Given the description of an element on the screen output the (x, y) to click on. 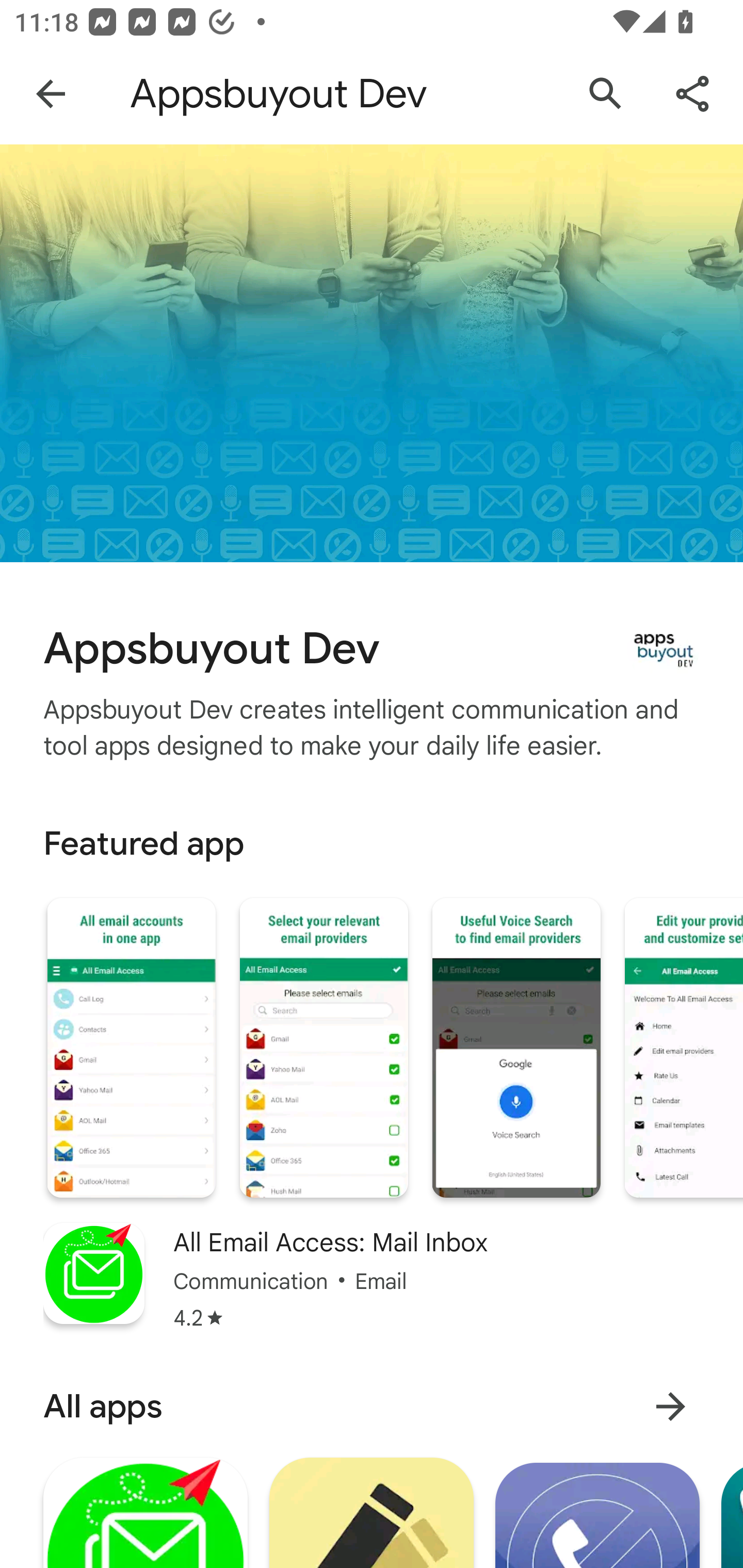
Navigate up (50, 93)
Search Google Play (605, 93)
Share (692, 93)
Screenshot "1" of "7" (130, 1047)
Screenshot "2" of "7" (323, 1047)
Screenshot "3" of "7" (515, 1047)
Screenshot "4" of "7" (683, 1047)
All apps More results for All apps (371, 1406)
More results for All apps (670, 1406)
